Given the description of an element on the screen output the (x, y) to click on. 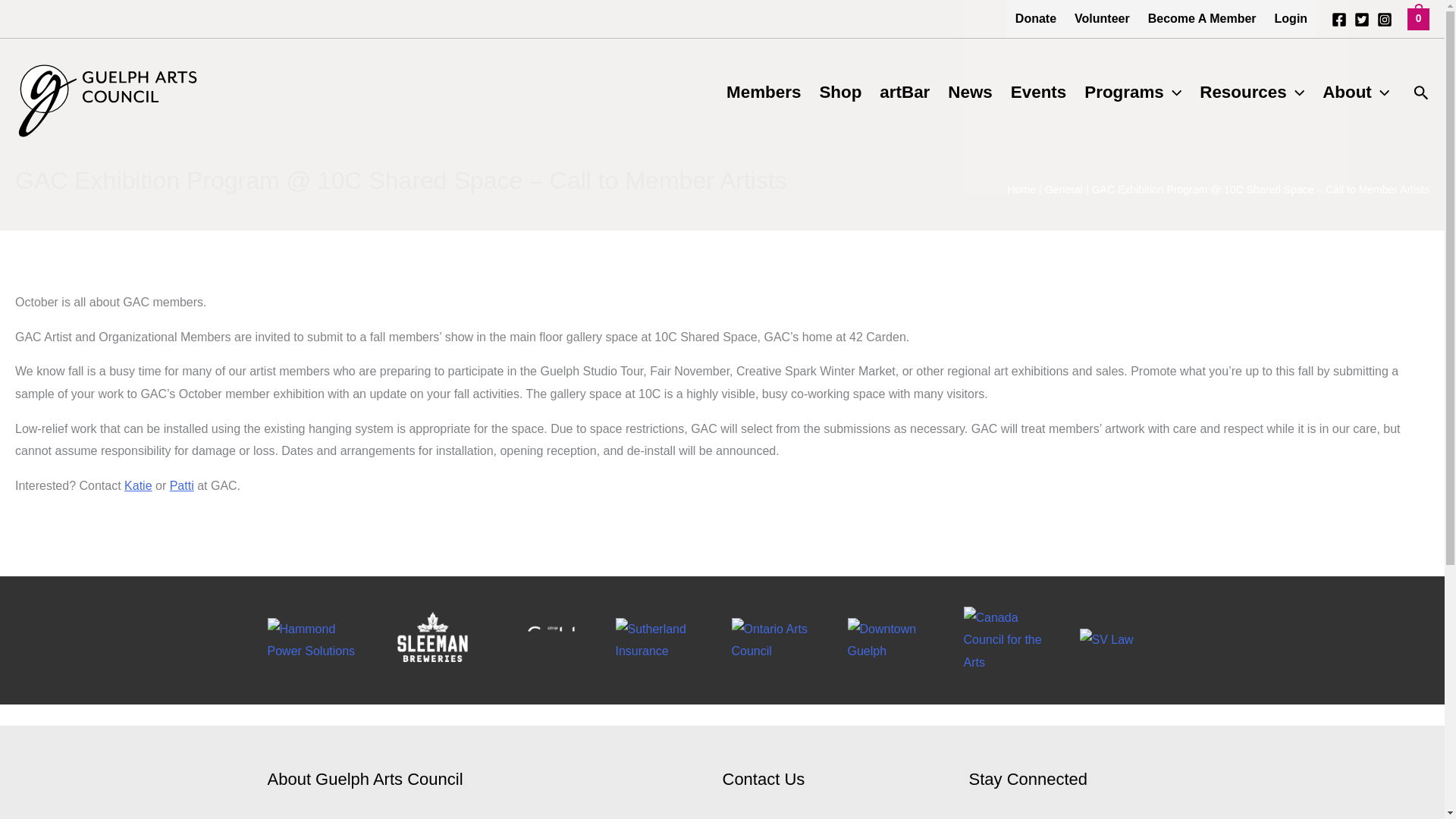
Volunteer (1101, 18)
Programs (1133, 92)
Become A Member (1201, 18)
Events (1038, 92)
About (1355, 92)
0 (1418, 18)
Login (1291, 18)
Shop (839, 92)
Donate (1035, 18)
News (970, 92)
artBar (904, 92)
Resources (1252, 92)
Members (763, 92)
